Given the description of an element on the screen output the (x, y) to click on. 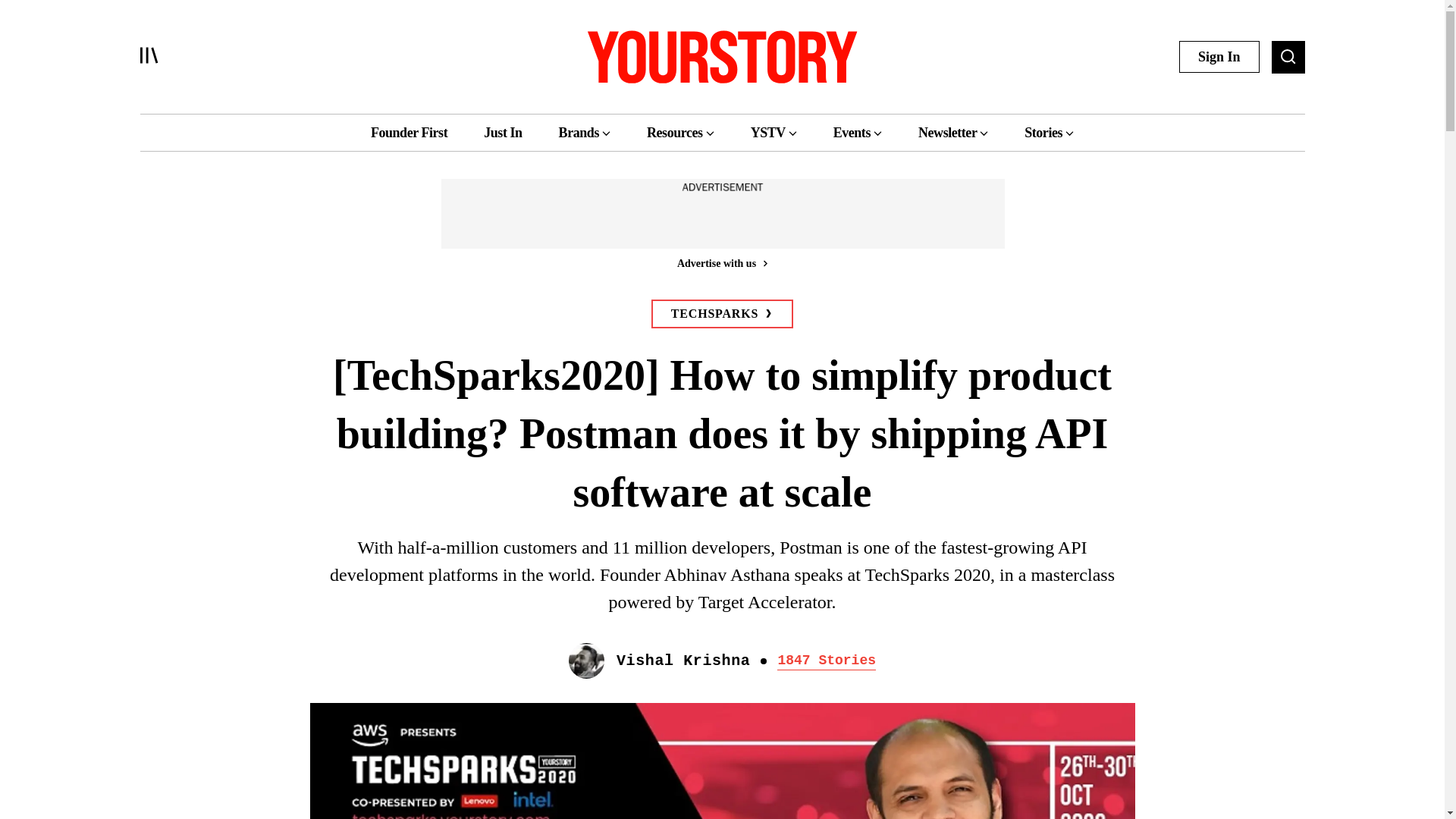
Just In (502, 132)
1847 Stories (826, 660)
Founder First (408, 132)
Advertise with us (721, 263)
TECHSPARKS (721, 313)
Vishal Krishna (682, 661)
